Given the description of an element on the screen output the (x, y) to click on. 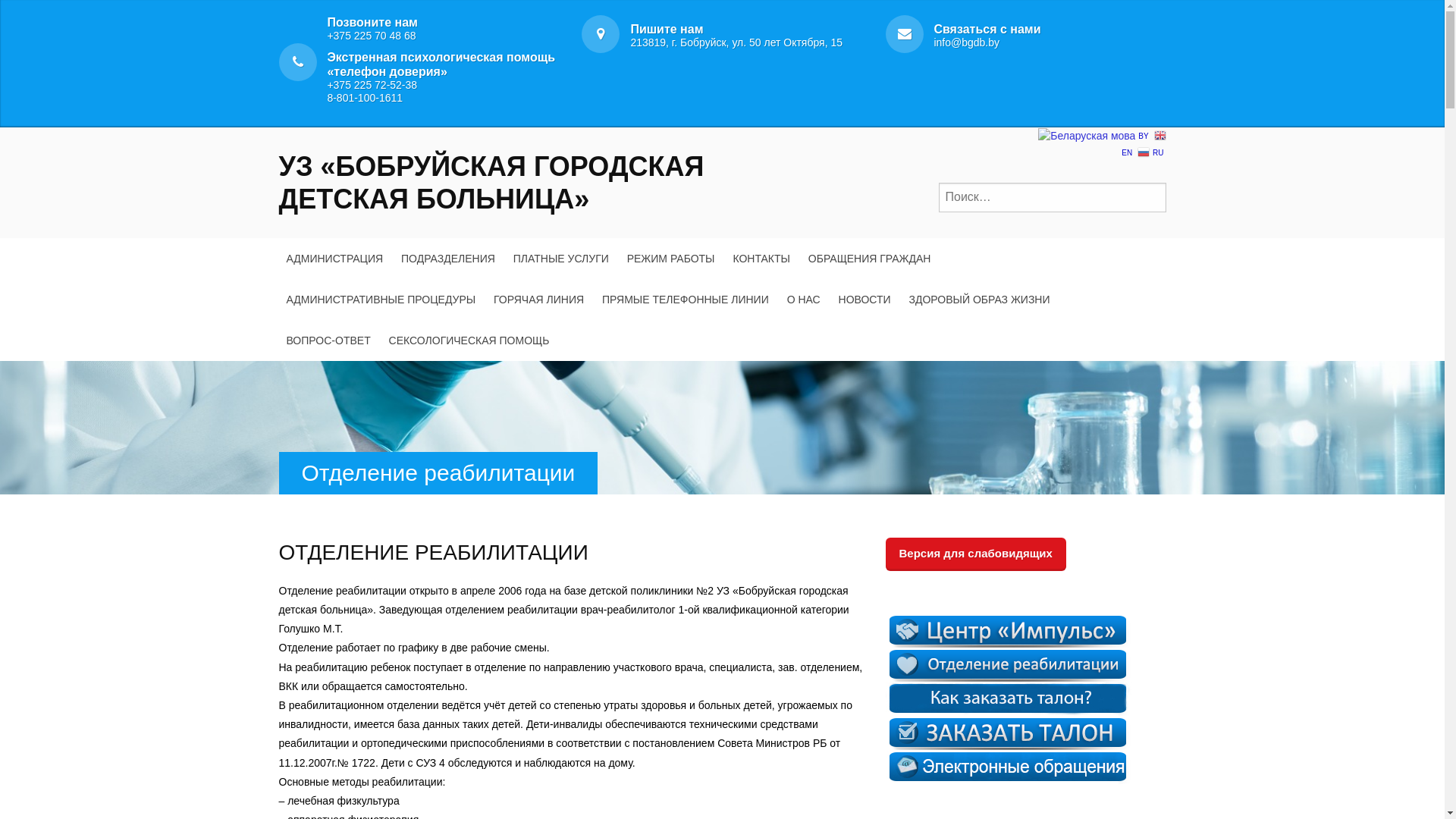
BY Element type: text (1094, 134)
EN Element type: text (1143, 142)
RU Element type: text (1151, 151)
